Given the description of an element on the screen output the (x, y) to click on. 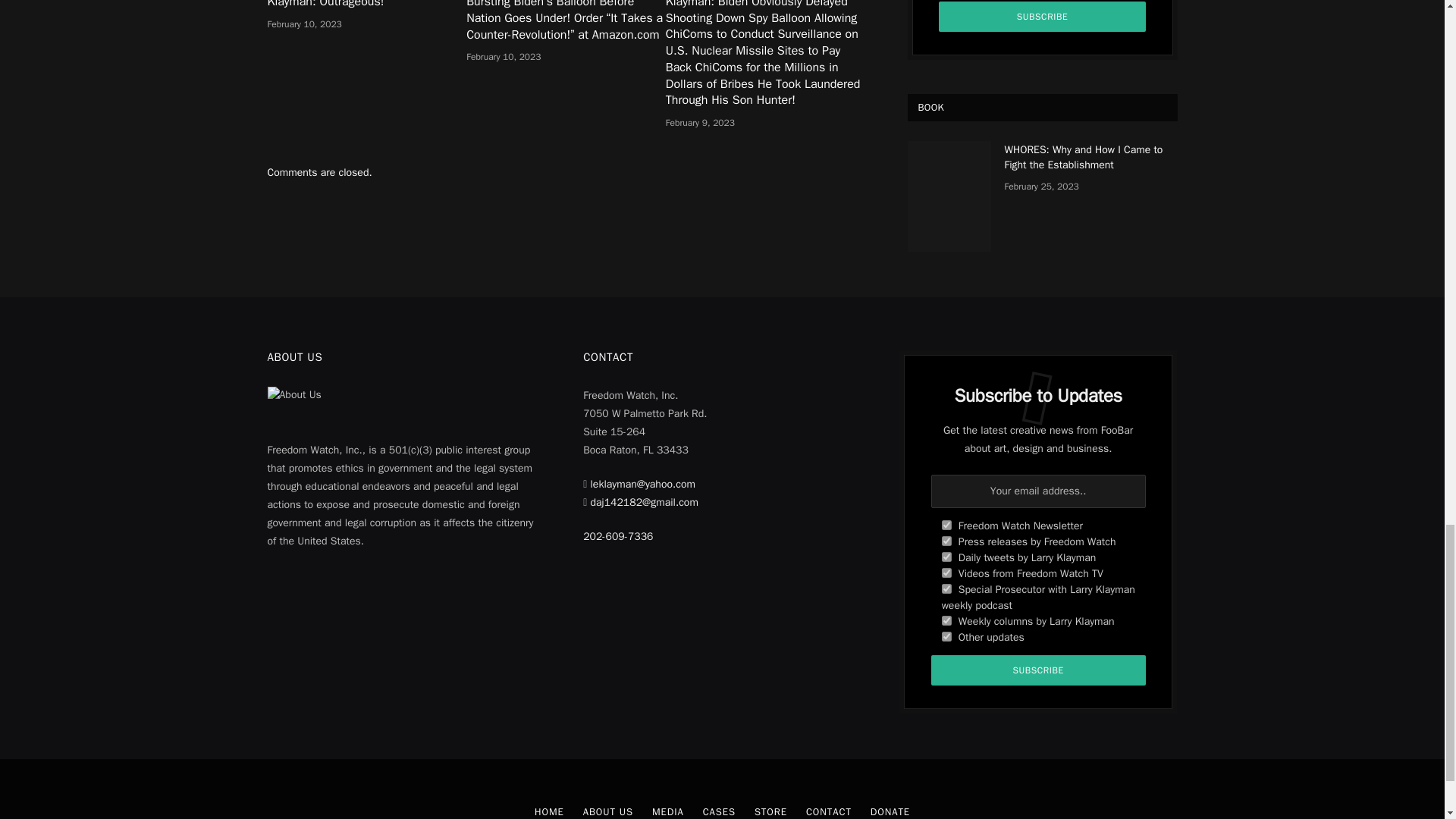
Freedom Watch Newsletter (947, 524)
Videos from Freedom Watch TV (947, 573)
Other updates (947, 636)
Klayman: Outrageous! (365, 5)
Subscribe (1038, 670)
Special Prosecutor with Larry Klayman weekly podcast (947, 588)
Press releases by Freedom Watch (947, 541)
Weekly columns by Larry Klayman (947, 620)
Daily tweets by Larry Klayman (947, 556)
Subscribe (1043, 16)
